Given the description of an element on the screen output the (x, y) to click on. 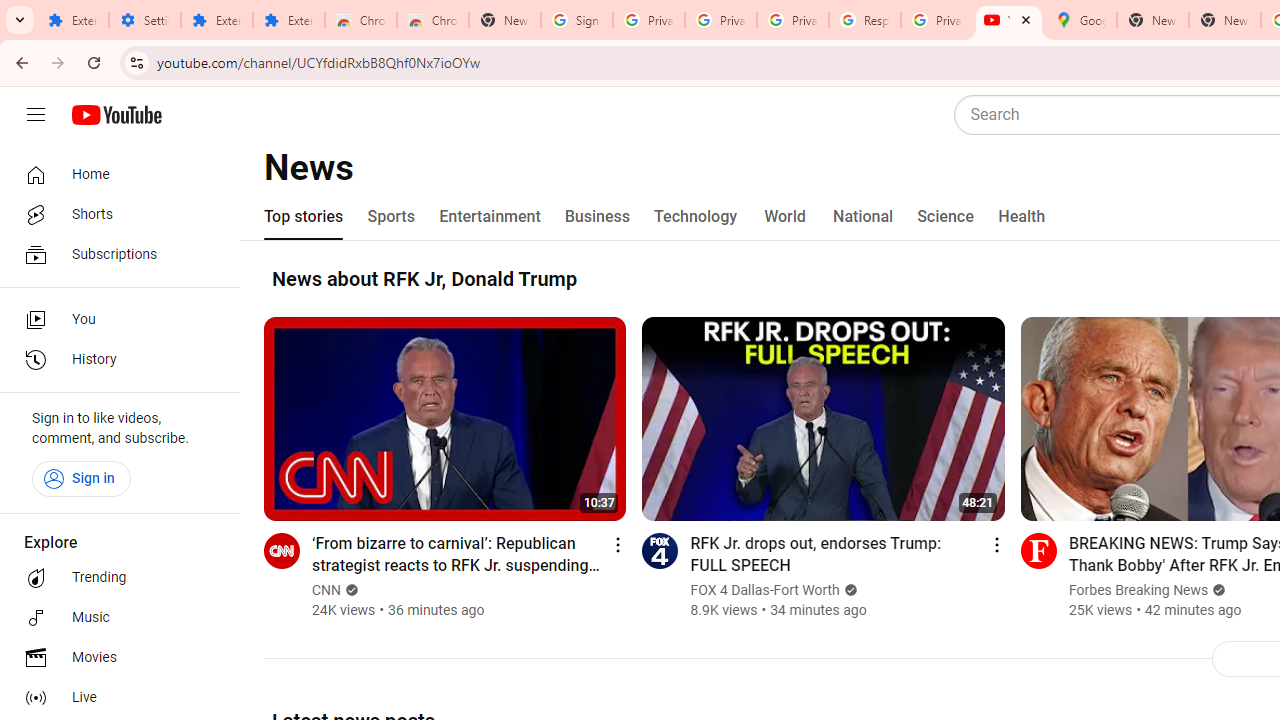
YouTube Home (116, 115)
Go to channel (1038, 550)
New Tab (504, 20)
Chrome Web Store (360, 20)
Guide (35, 115)
History (113, 359)
Verified (1217, 590)
Forbes Breaking News (1138, 590)
Settings (144, 20)
Sports (391, 216)
